Given the description of an element on the screen output the (x, y) to click on. 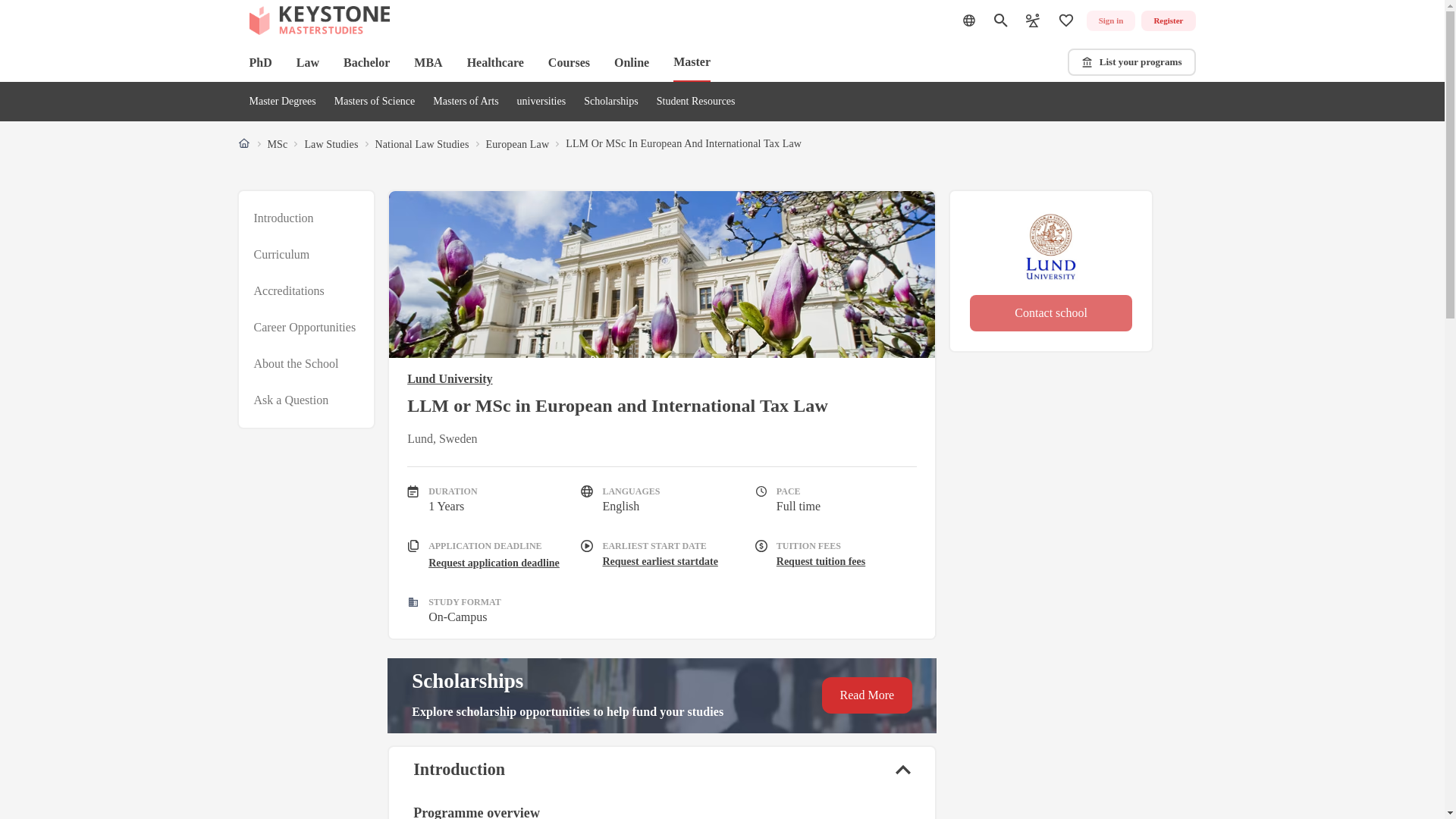
Introduction (283, 218)
Register (1168, 20)
About the School (295, 363)
Courses (568, 63)
List your programs (1131, 62)
Healthcare (495, 63)
European Law (516, 144)
Law Studies (331, 144)
Bachelor (366, 63)
Read More (867, 695)
universities (541, 101)
National Law Studies (421, 144)
Masters of Science (374, 101)
Ask a Question (291, 400)
Accreditations (288, 290)
